Given the description of an element on the screen output the (x, y) to click on. 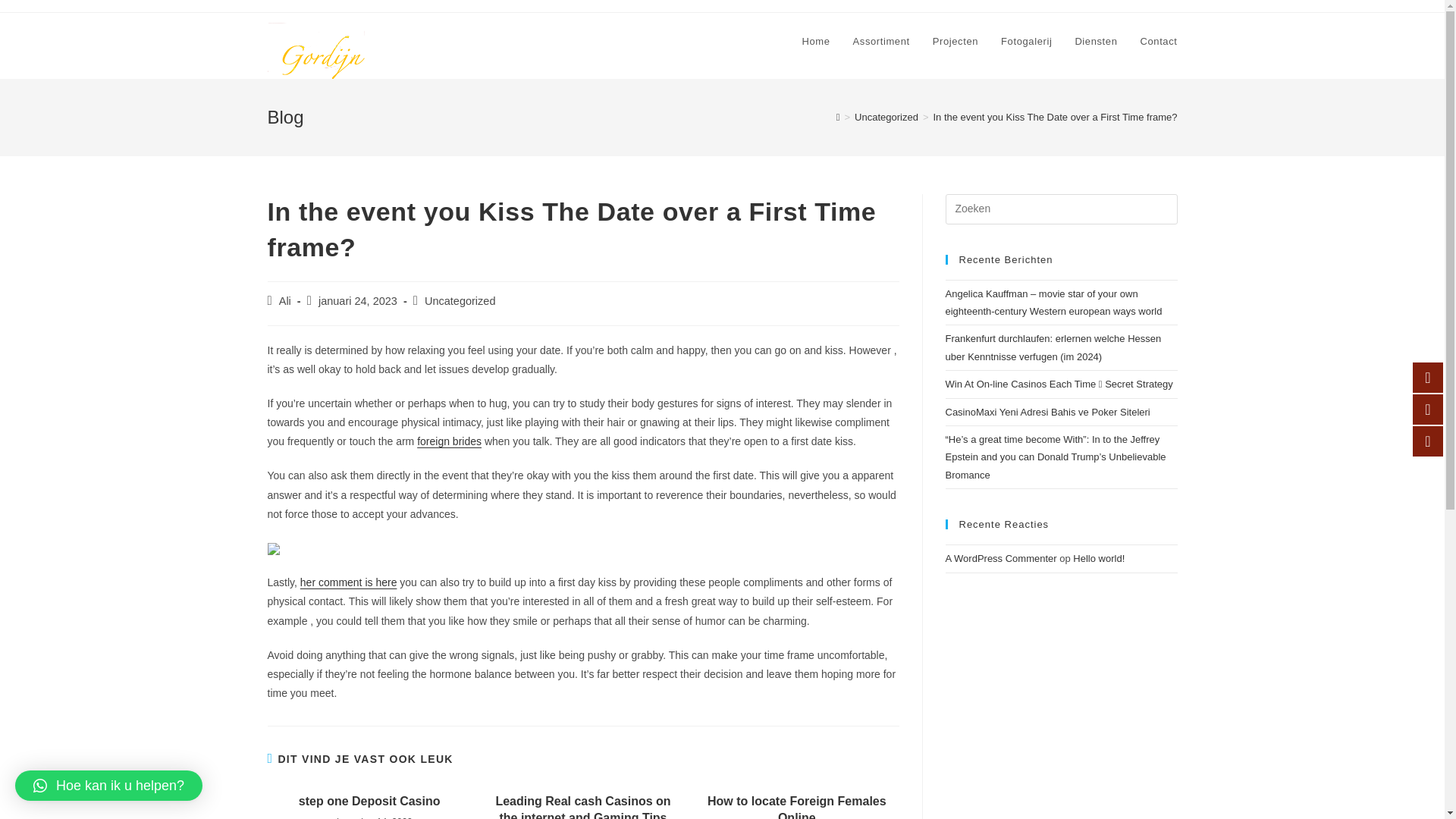
Leading Real cash Casinos on the internet and Gaming Tips (582, 806)
step one Deposit Casino (368, 801)
foreign brides (448, 440)
In the event you Kiss The Date over a First Time frame? (1054, 116)
A WordPress Commenter (1000, 558)
Ali (285, 300)
Projecten (955, 41)
Fotogalerij (1026, 41)
her comment is here (348, 582)
Contact (1158, 41)
Uncategorized (460, 300)
How to locate Foreign Females Online (796, 806)
Hello world! (1098, 558)
CasinoMaxi Yeni Adresi Bahis ve Poker Siteleri (1047, 411)
Home (815, 41)
